Given the description of an element on the screen output the (x, y) to click on. 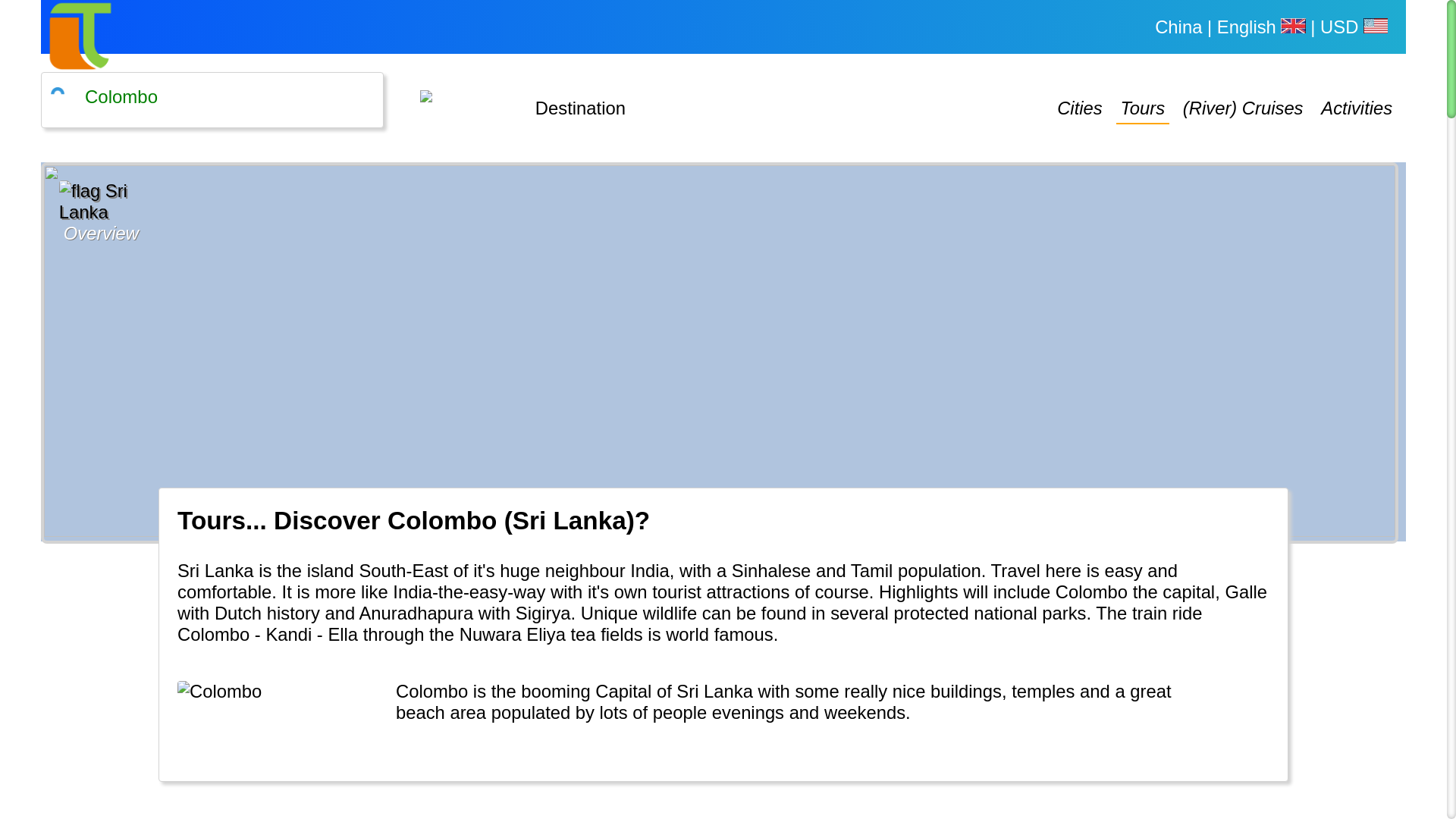
Going to (468, 99)
Activities (1356, 107)
Cities (1079, 107)
Tours (1143, 108)
ToursOnTheWeb Home (80, 36)
Overview (605, 233)
